Given the description of an element on the screen output the (x, y) to click on. 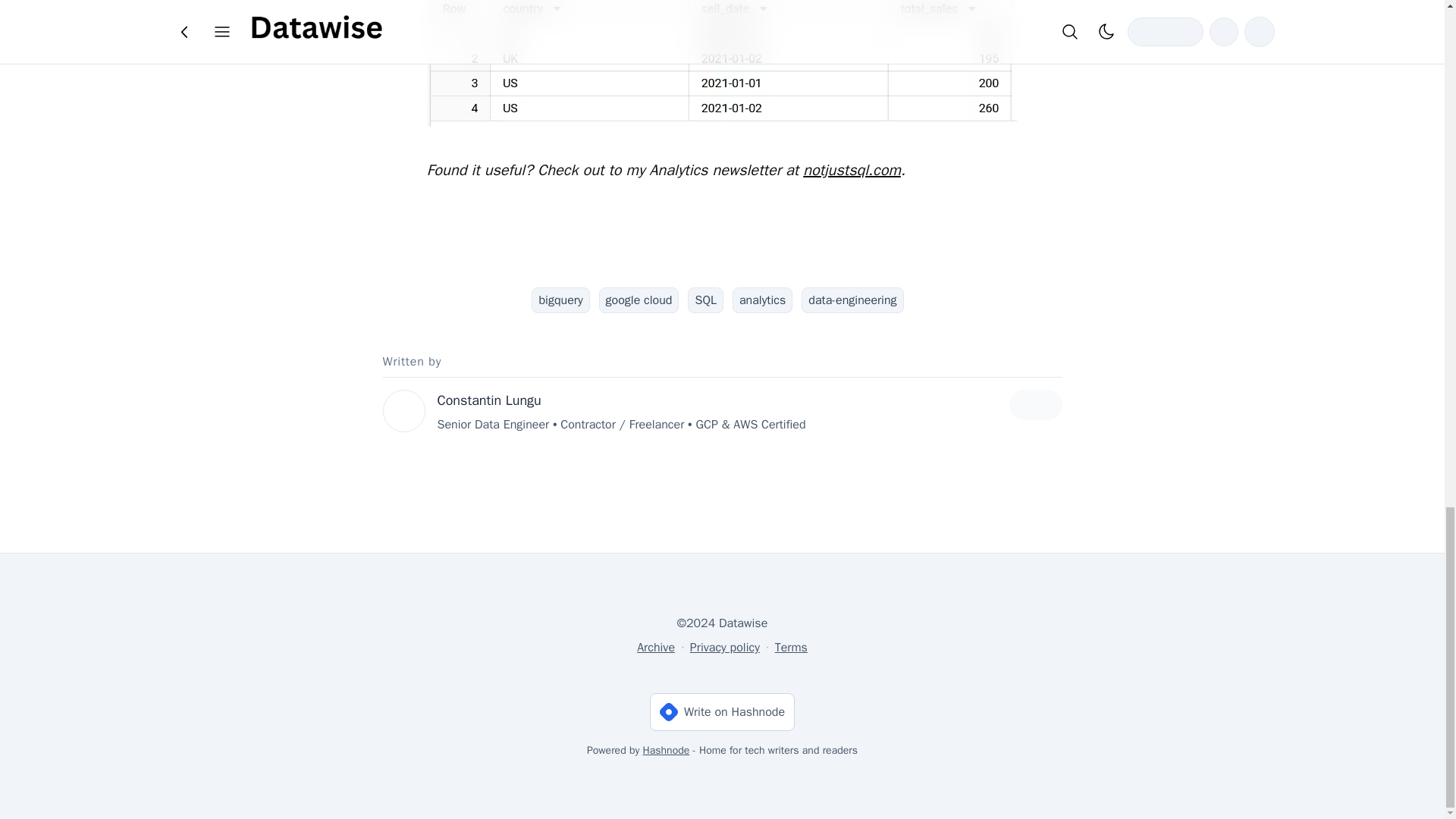
Privacy policy (725, 647)
Constantin Lungu (488, 400)
Terms (791, 647)
bigquery (560, 299)
Write on Hashnode (721, 711)
analytics (762, 299)
notjustsql.com (852, 169)
SQL (704, 299)
Archive (656, 647)
google cloud (638, 299)
